Given the description of an element on the screen output the (x, y) to click on. 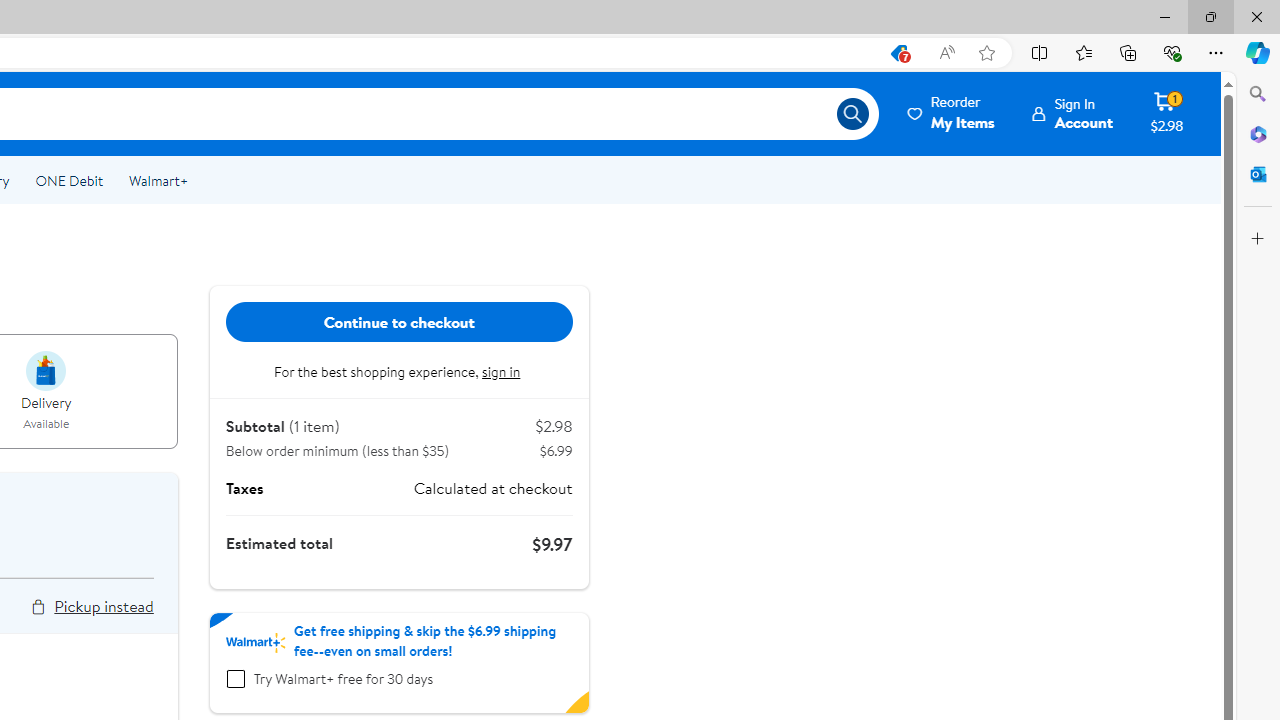
sign in (503, 372)
Reorder My Items (952, 113)
Walmart+ (158, 180)
Sign In Account (1072, 113)
Pickup instead (103, 606)
Sign InAccount (1072, 113)
Continue to checkout (399, 321)
Walmart+ (158, 180)
ONE Debit (68, 180)
